Given the description of an element on the screen output the (x, y) to click on. 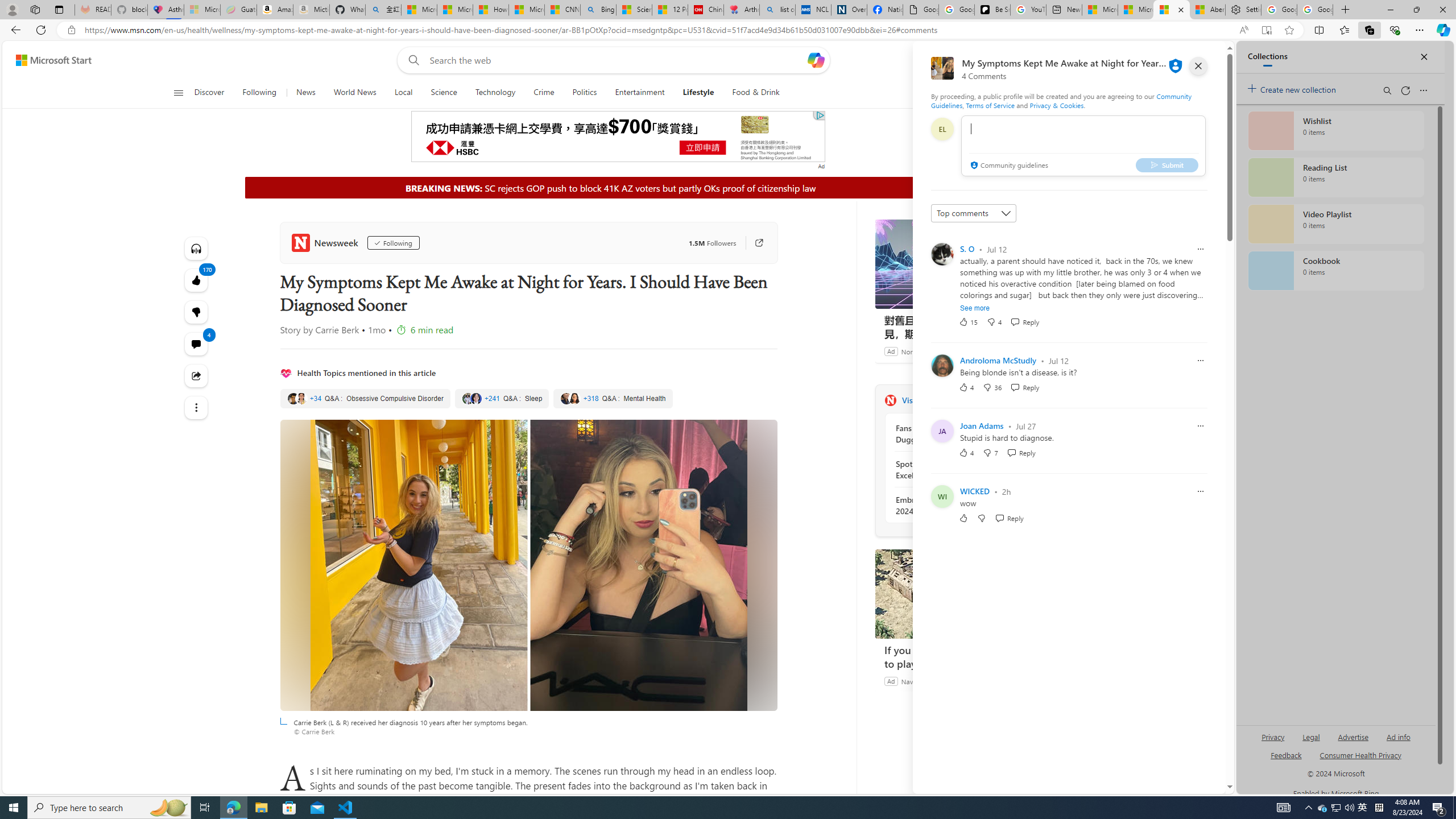
4 Like (965, 452)
Joan Adams (981, 425)
If you have a mouse, you have to play this game. (959, 656)
Class: qc-adchoices-icon (820, 115)
